Given the description of an element on the screen output the (x, y) to click on. 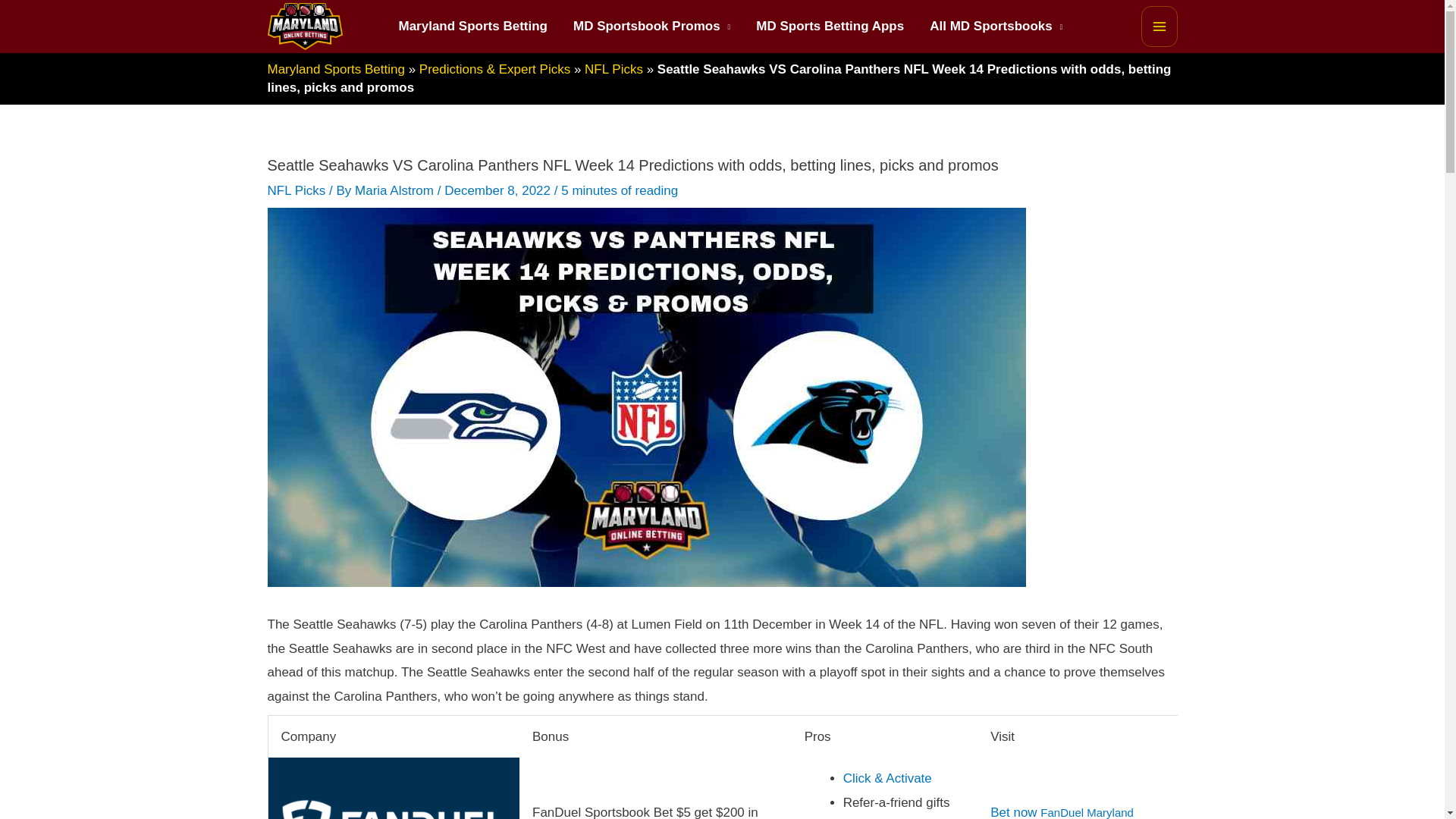
All MD Sportsbooks (996, 26)
View all posts by Maria Alstrom (396, 190)
FanDuel Maryland promo code (1062, 812)
Maria Alstrom (396, 190)
Bet now (1013, 812)
MD Sportsbook Promos (651, 26)
NFL Picks (295, 190)
Maryland Sports Betting (335, 69)
MD Sports Betting Apps (829, 26)
Maryland Sports Betting (472, 26)
NFL Picks (614, 69)
